Given the description of an element on the screen output the (x, y) to click on. 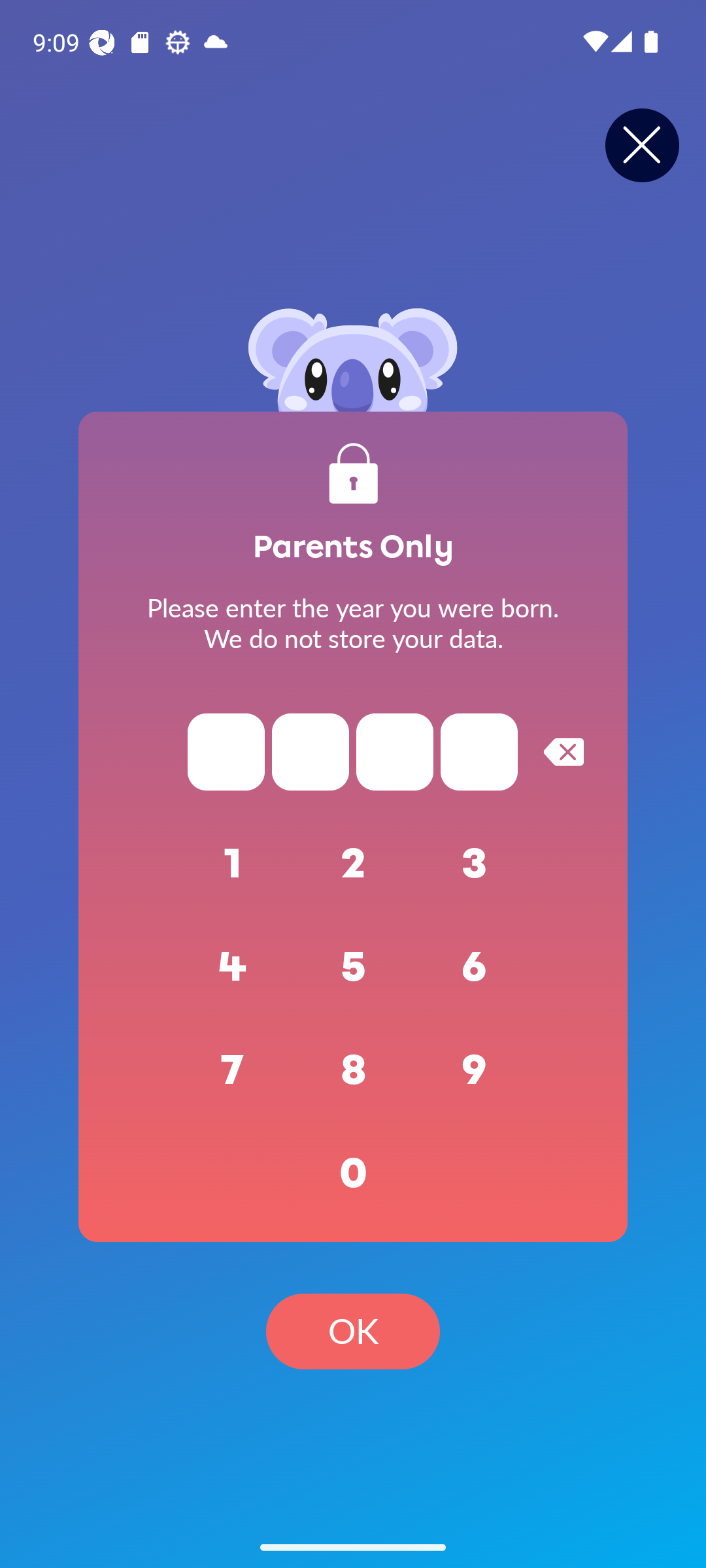
Delete (563, 751)
1 (232, 863)
2 (353, 863)
3 (474, 863)
4 (232, 966)
5 (353, 966)
6 (474, 966)
7 (232, 1069)
8 (353, 1069)
9 (474, 1069)
0 (353, 1173)
OK (352, 1331)
